Given the description of an element on the screen output the (x, y) to click on. 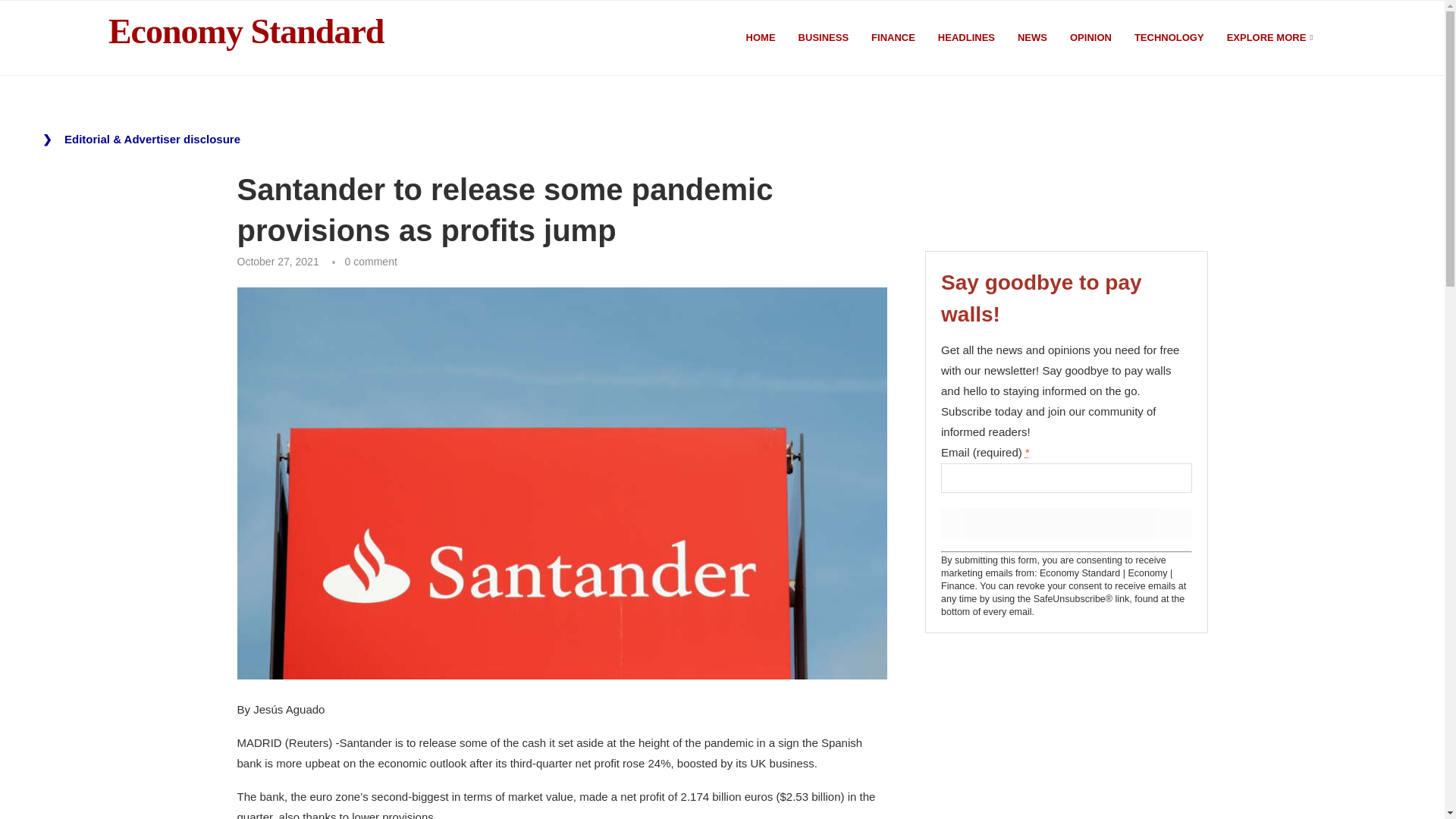
Economy Standard (245, 31)
Sign up! (1065, 522)
Sign up! (1065, 522)
EXPLORE MORE (1270, 38)
TECHNOLOGY (1169, 38)
